Given the description of an element on the screen output the (x, y) to click on. 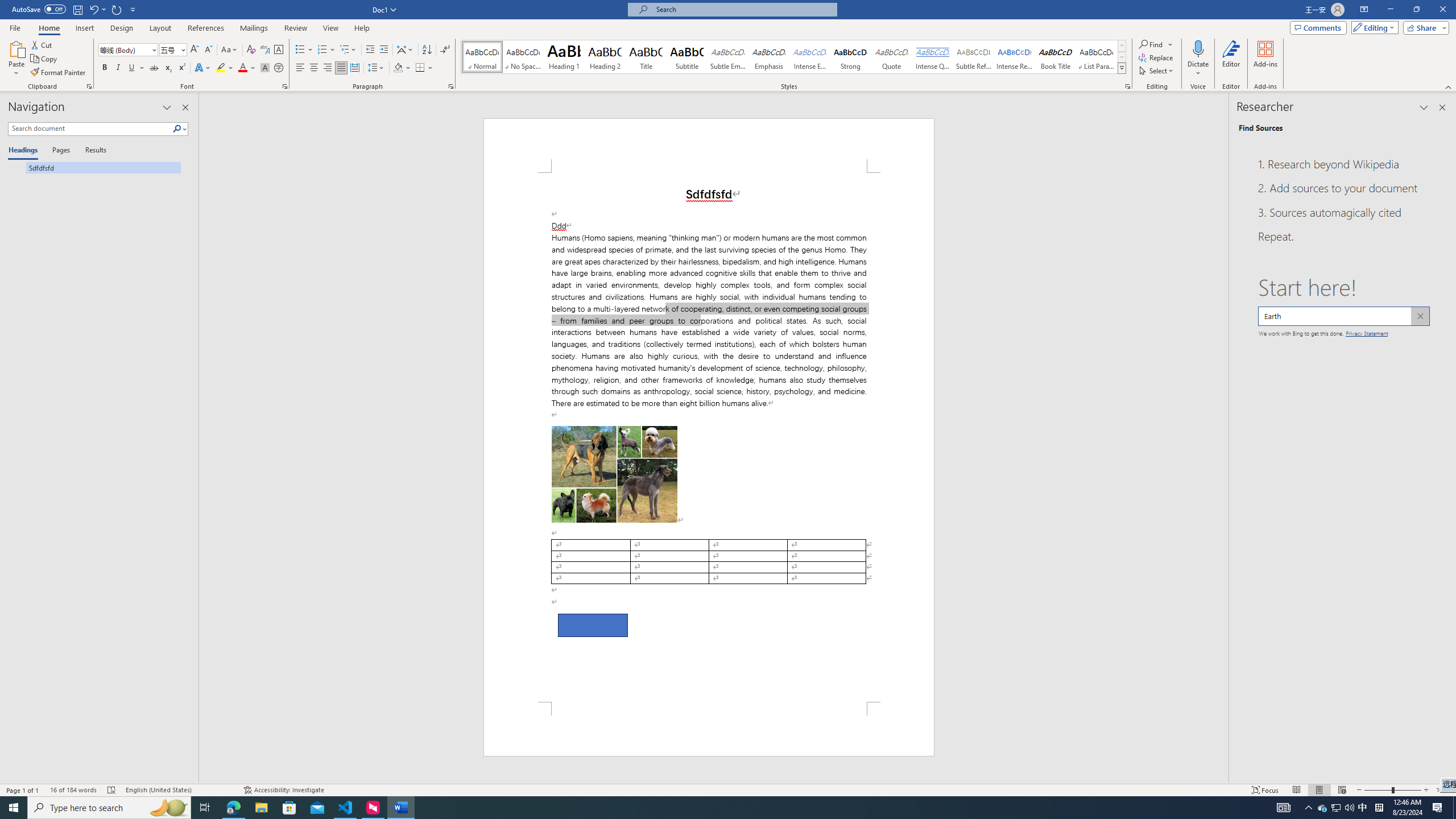
AutoSave (38, 9)
Character Shading (264, 67)
Open (182, 49)
Microsoft search (742, 9)
Text Highlight Color Yellow (220, 67)
Replace... (1156, 56)
Ribbon Display Options (1364, 9)
Underline (131, 67)
More Options (1197, 68)
Subscript (167, 67)
Intense Emphasis (809, 56)
Character Border (278, 49)
Dictate (1197, 48)
Repeat Insert Shape (117, 9)
Center (313, 67)
